Given the description of an element on the screen output the (x, y) to click on. 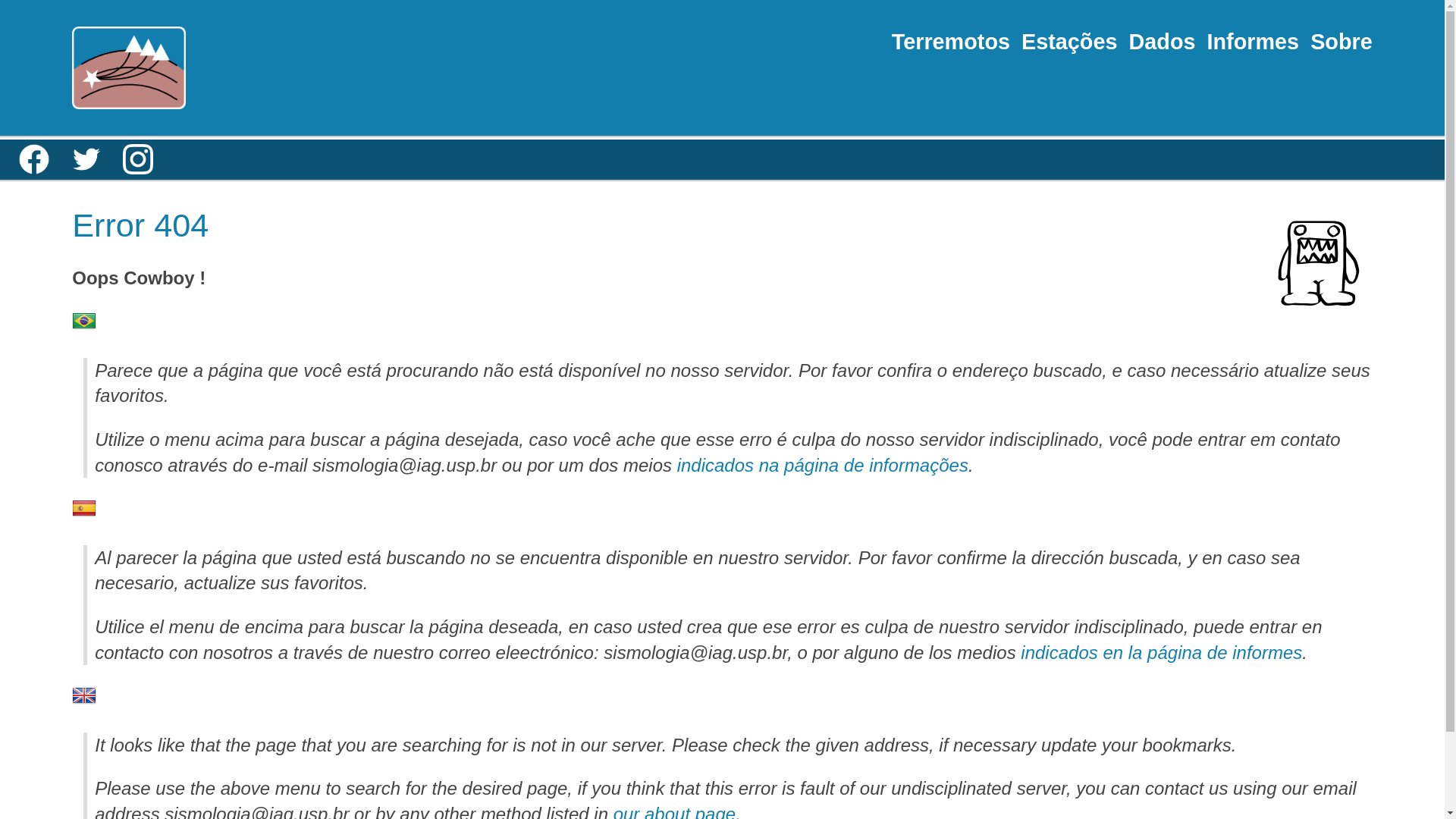
Sobre Element type: text (1341, 41)
Informes Element type: text (1253, 41)
Terremotos Element type: text (950, 41)
Dados Element type: text (1161, 41)
